Given the description of an element on the screen output the (x, y) to click on. 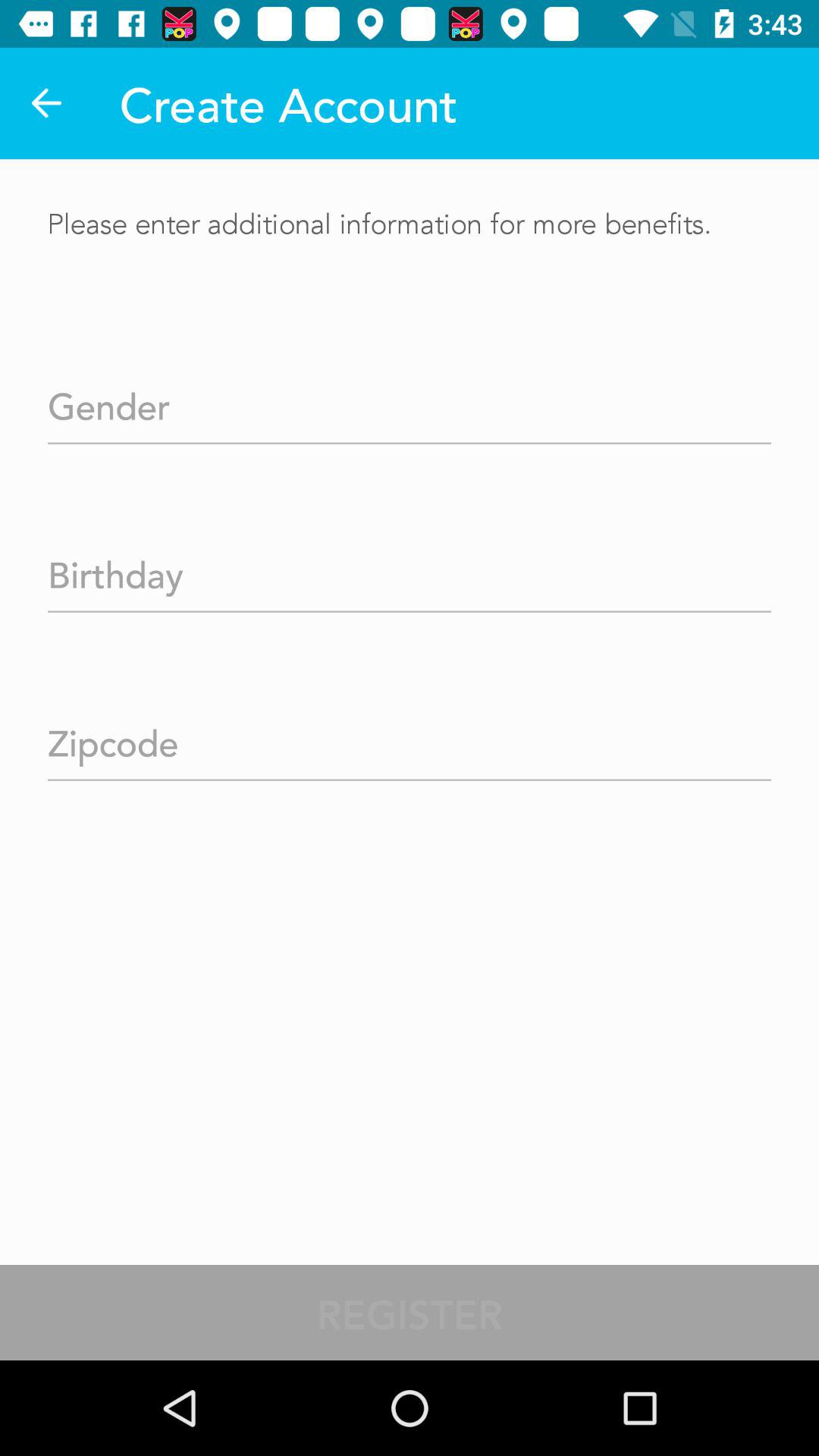
input birthday (409, 569)
